Given the description of an element on the screen output the (x, y) to click on. 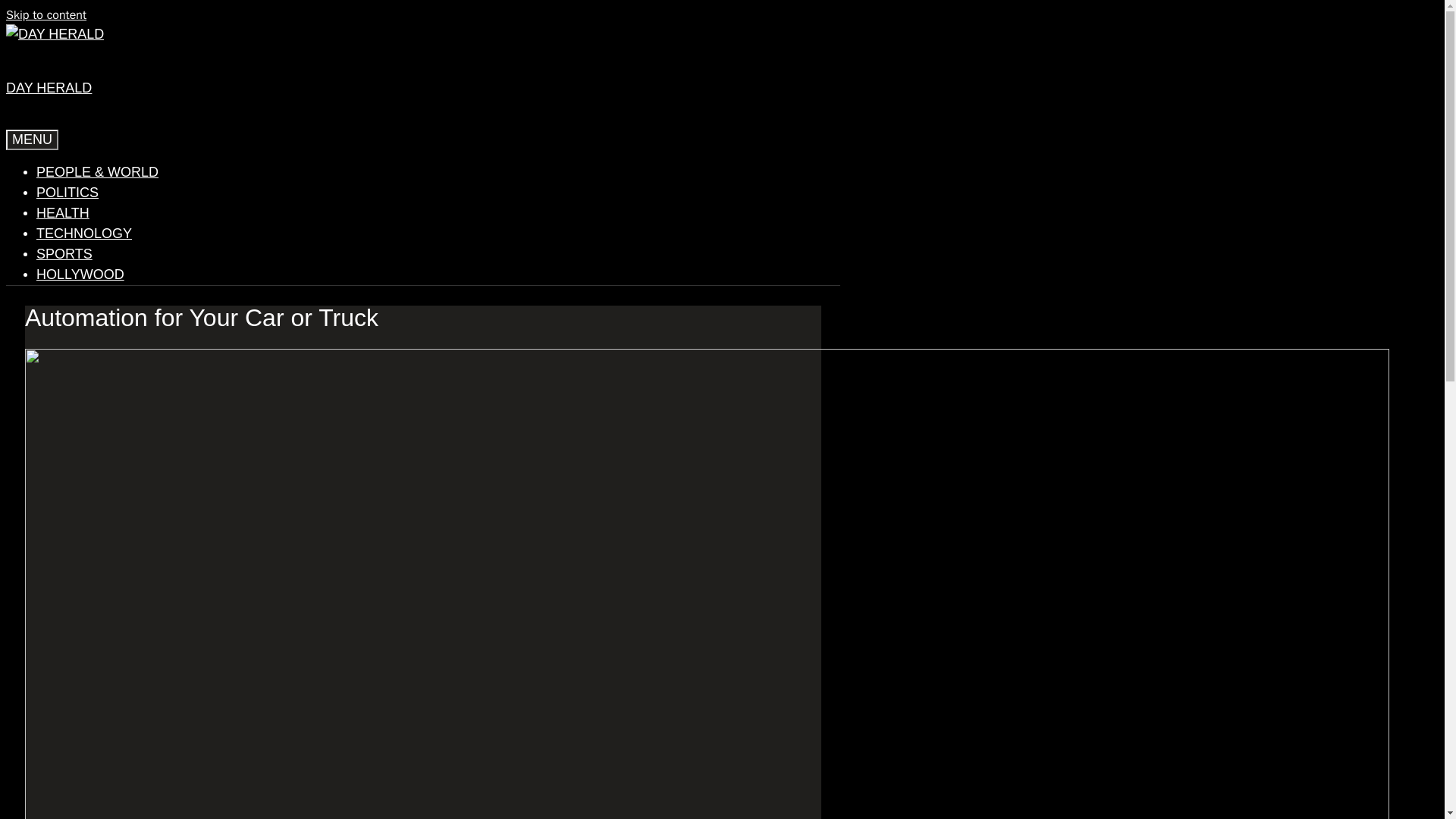
TECHNOLOGY (84, 233)
MENU (31, 139)
Skip to content (45, 14)
POLITICS (67, 192)
Day Herald (54, 33)
SPORTS (64, 253)
HEALTH (62, 212)
Day Herald (54, 34)
DAY HERALD (48, 87)
Skip to content (45, 14)
HOLLYWOOD (79, 273)
